Given the description of an element on the screen output the (x, y) to click on. 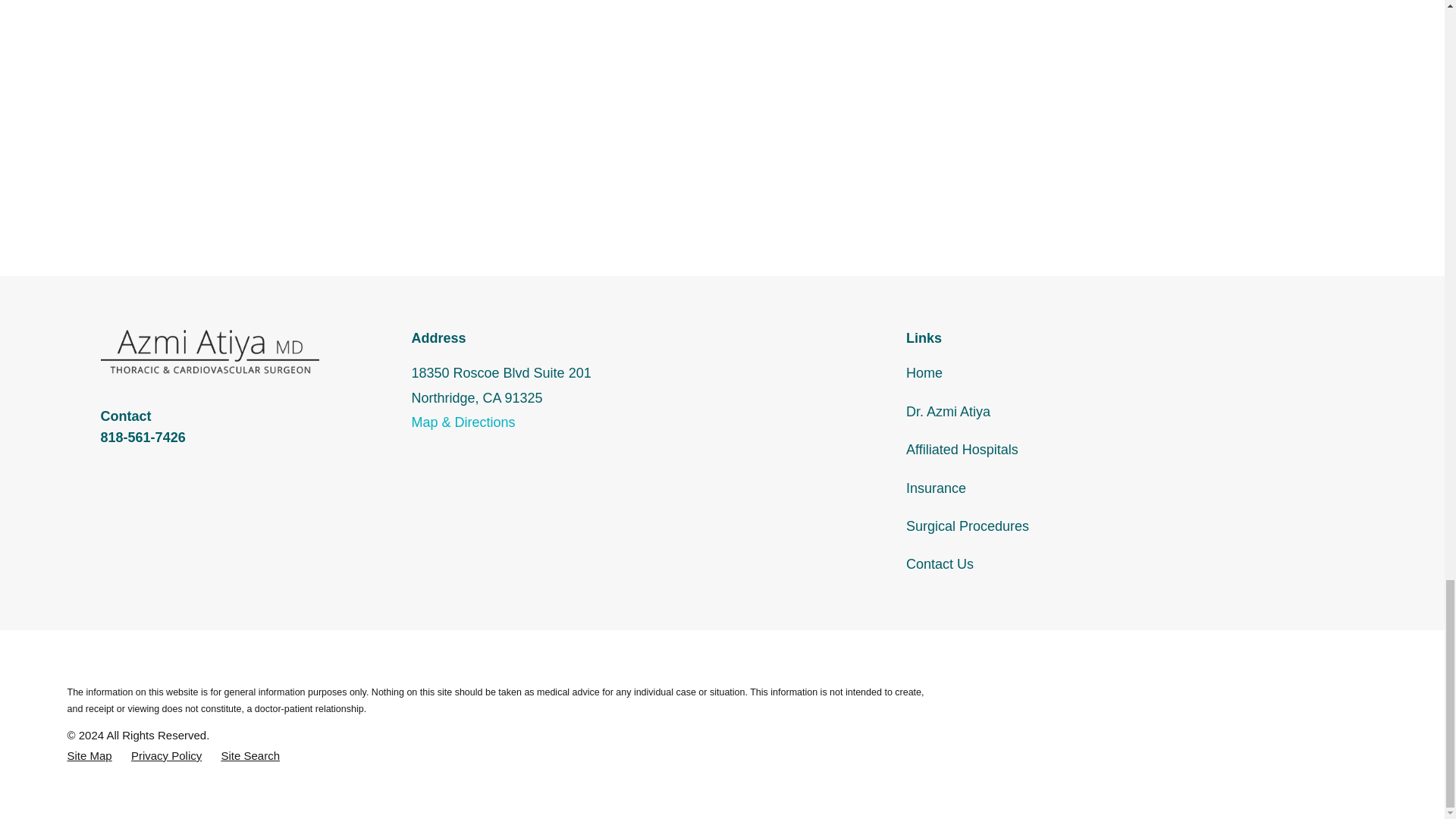
Home (209, 351)
